Given the description of an element on the screen output the (x, y) to click on. 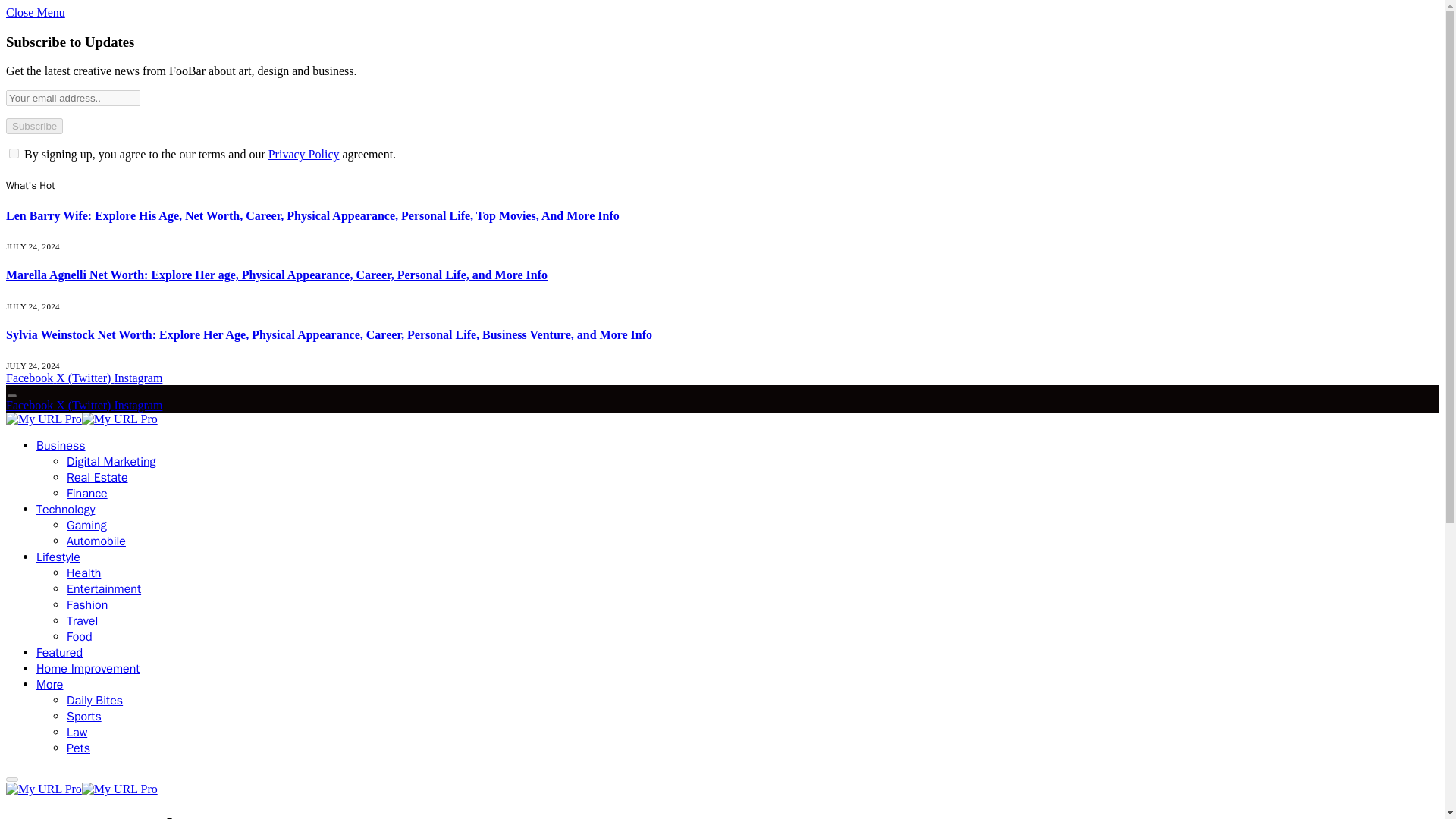
My URL Pro (81, 418)
Food (79, 636)
Gaming (86, 525)
My URL Pro (81, 788)
Subscribe (33, 125)
Real Estate (97, 477)
Close Menu (35, 11)
Featured (59, 652)
Facebook (30, 377)
Instagram (137, 404)
Fashion (86, 604)
Subscribe (33, 125)
Home Improvement (87, 668)
Privacy Policy (303, 154)
